Given the description of an element on the screen output the (x, y) to click on. 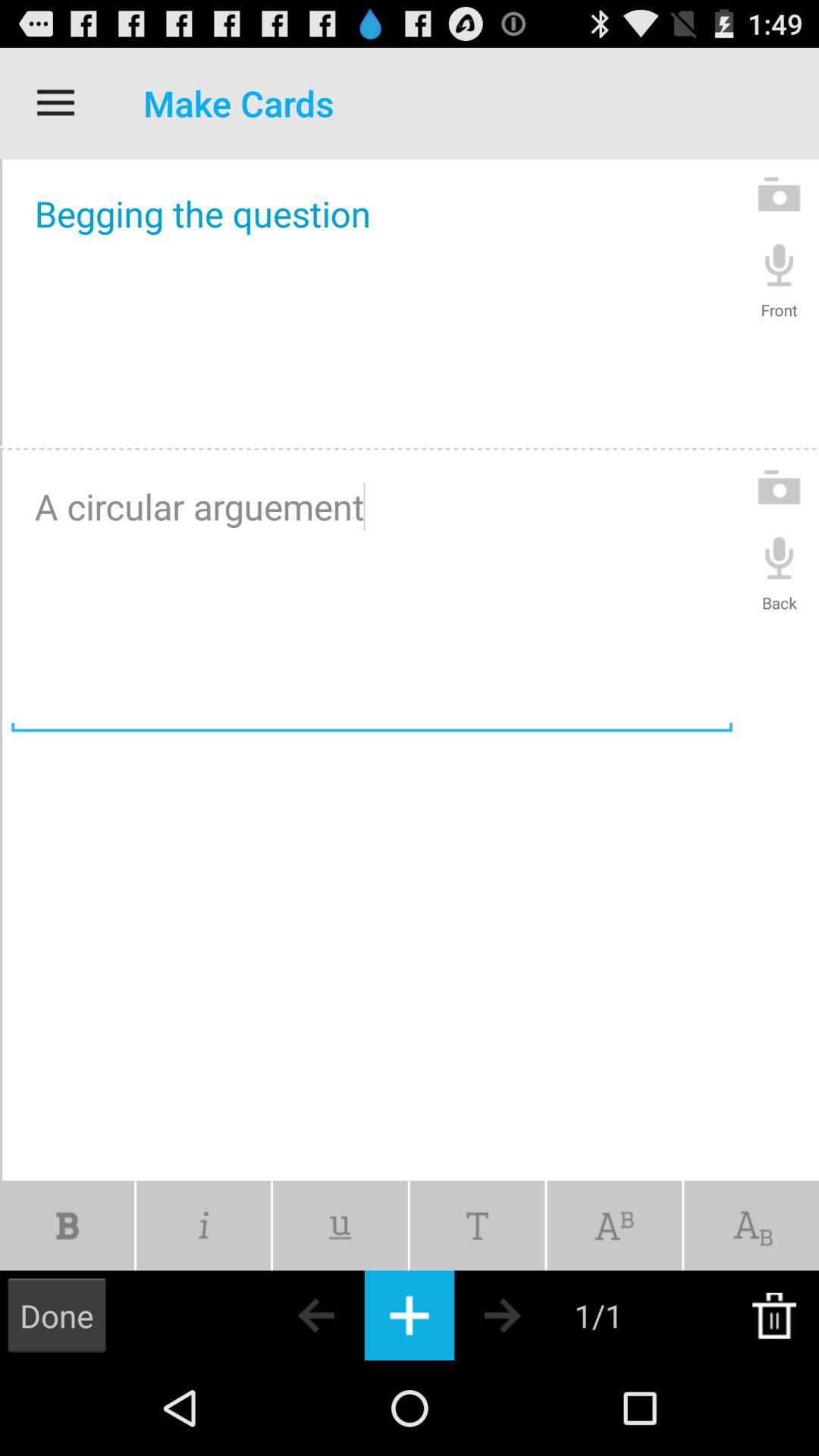
change text element (751, 1225)
